Given the description of an element on the screen output the (x, y) to click on. 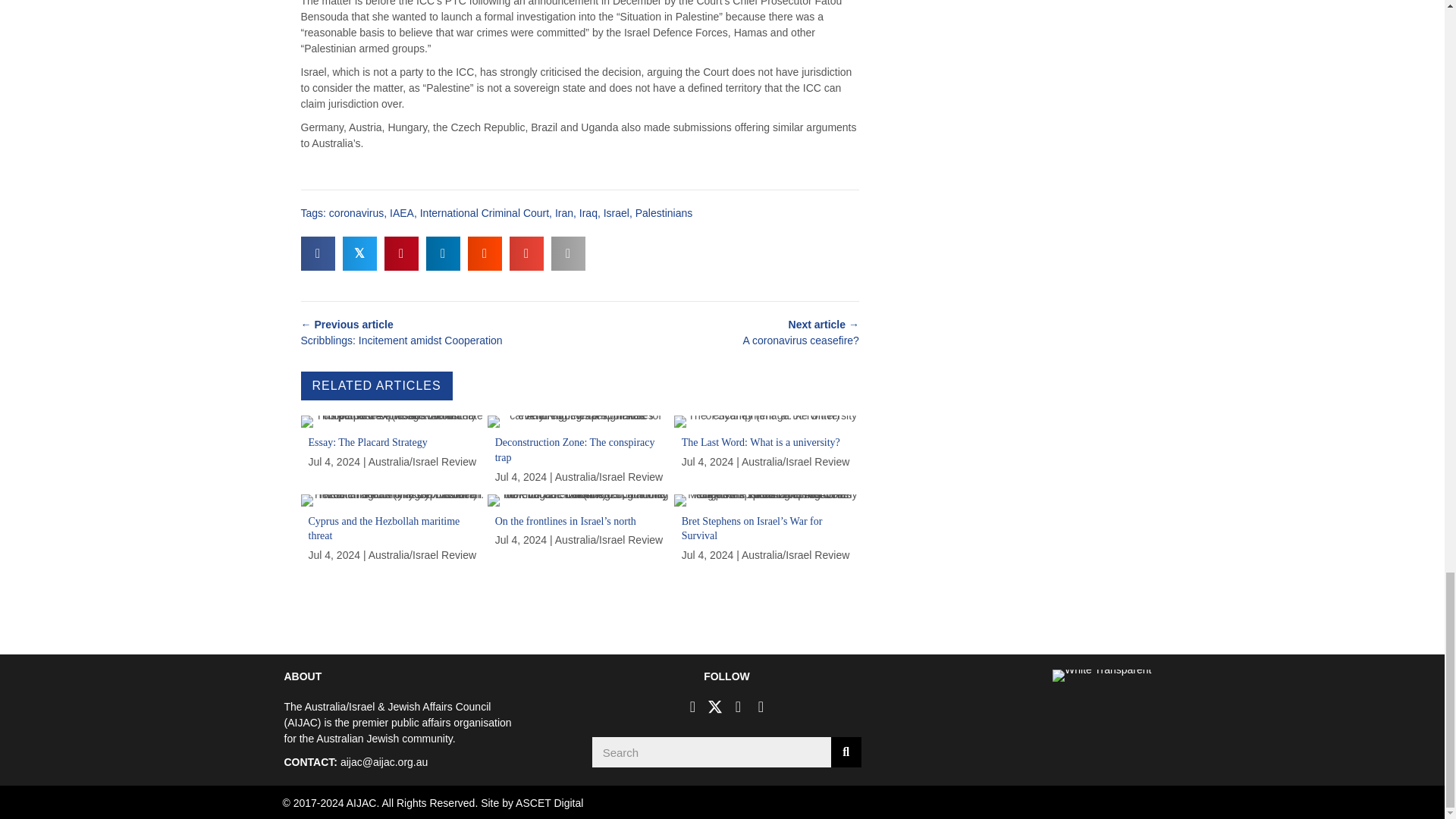
6a0a3423 59b9 4056 806a D0de20dba2cb 899x899 (579, 421)
The Last Word: What is a university? (766, 453)
Deconstruction Zone: The conspiracy trap (579, 453)
GMsFDZDagAAQKns Tw (766, 421)
Essay: The Placard Strategy (391, 453)
